Given the description of an element on the screen output the (x, y) to click on. 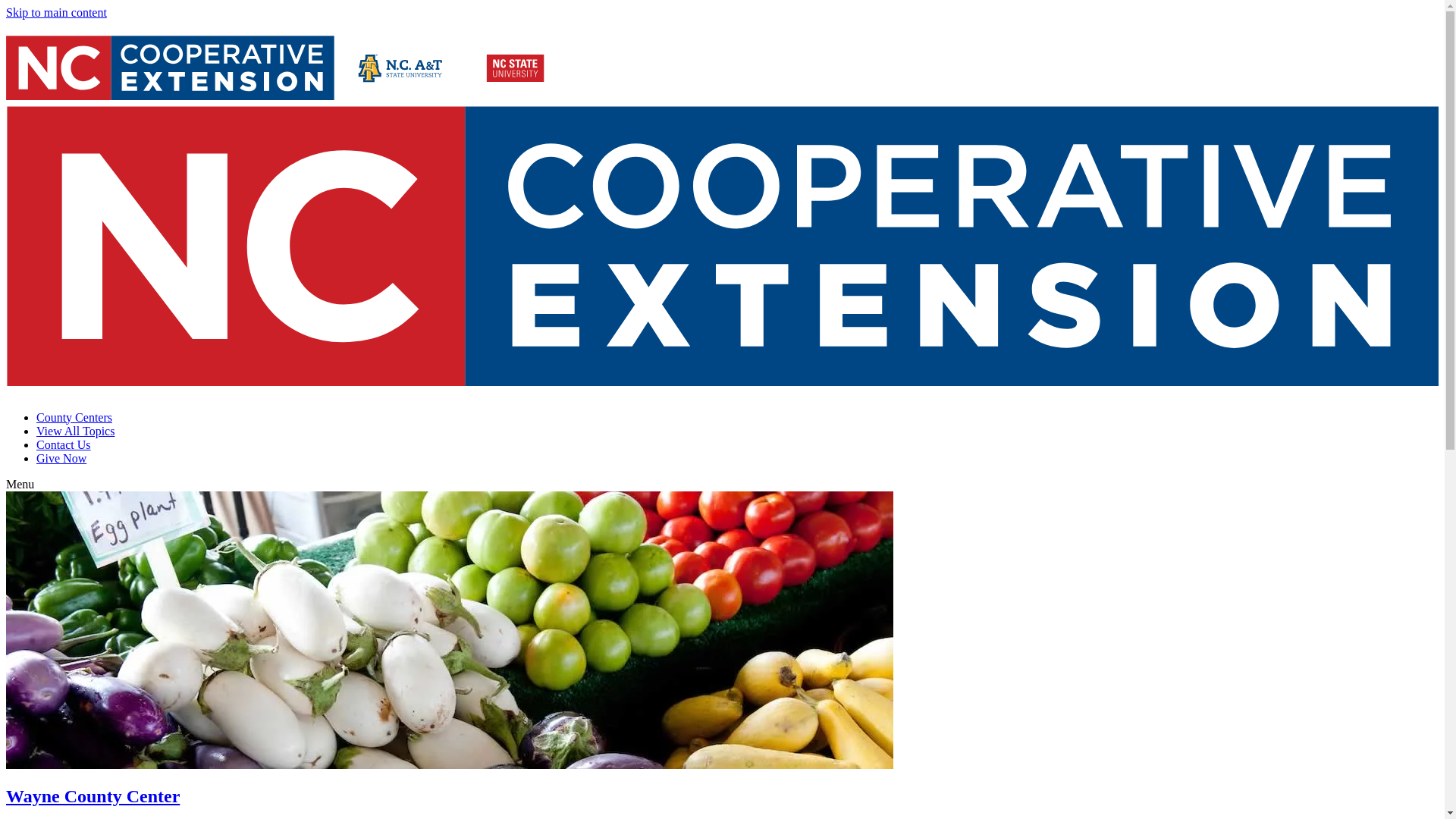
Wayne County Center (92, 795)
Give Now (60, 458)
County Centers (74, 417)
Skip to main content (55, 11)
Contact Us (63, 444)
View All Topics (75, 431)
